Given the description of an element on the screen output the (x, y) to click on. 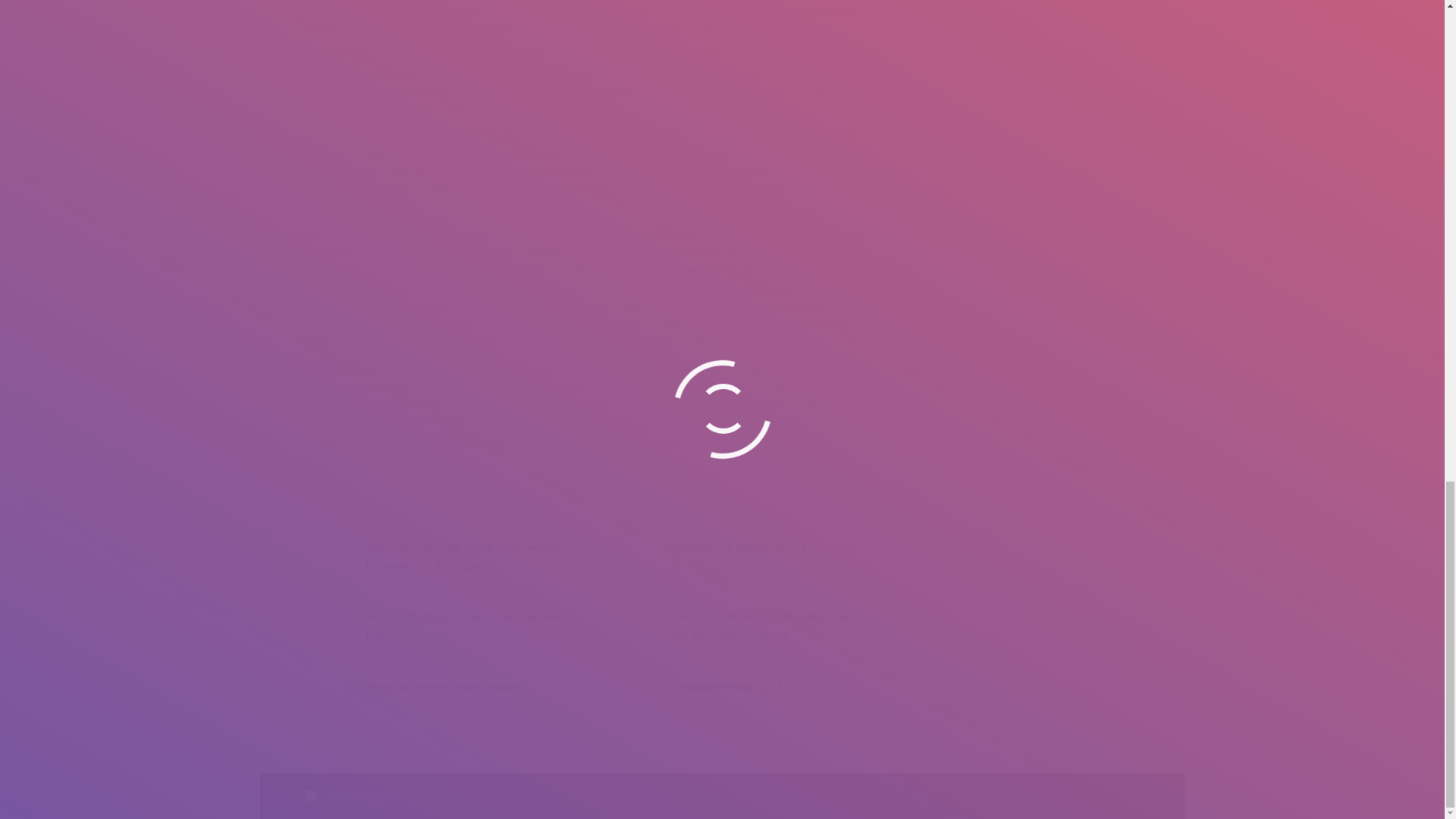
Streamate Review 2021 (726, 687)
Malaysian Women Face Features (444, 687)
Jerkmate Is A Bogus Jerk Off Cam Site! (762, 547)
No-Fuss Methods For Meet Local Women Frees (470, 626)
